Given the description of an element on the screen output the (x, y) to click on. 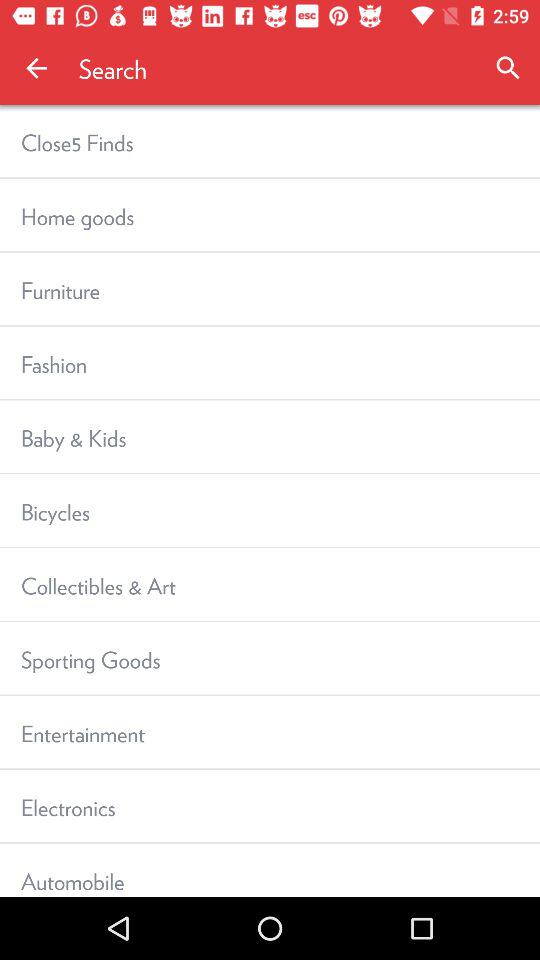
press icon next to search item (36, 68)
